Given the description of an element on the screen output the (x, y) to click on. 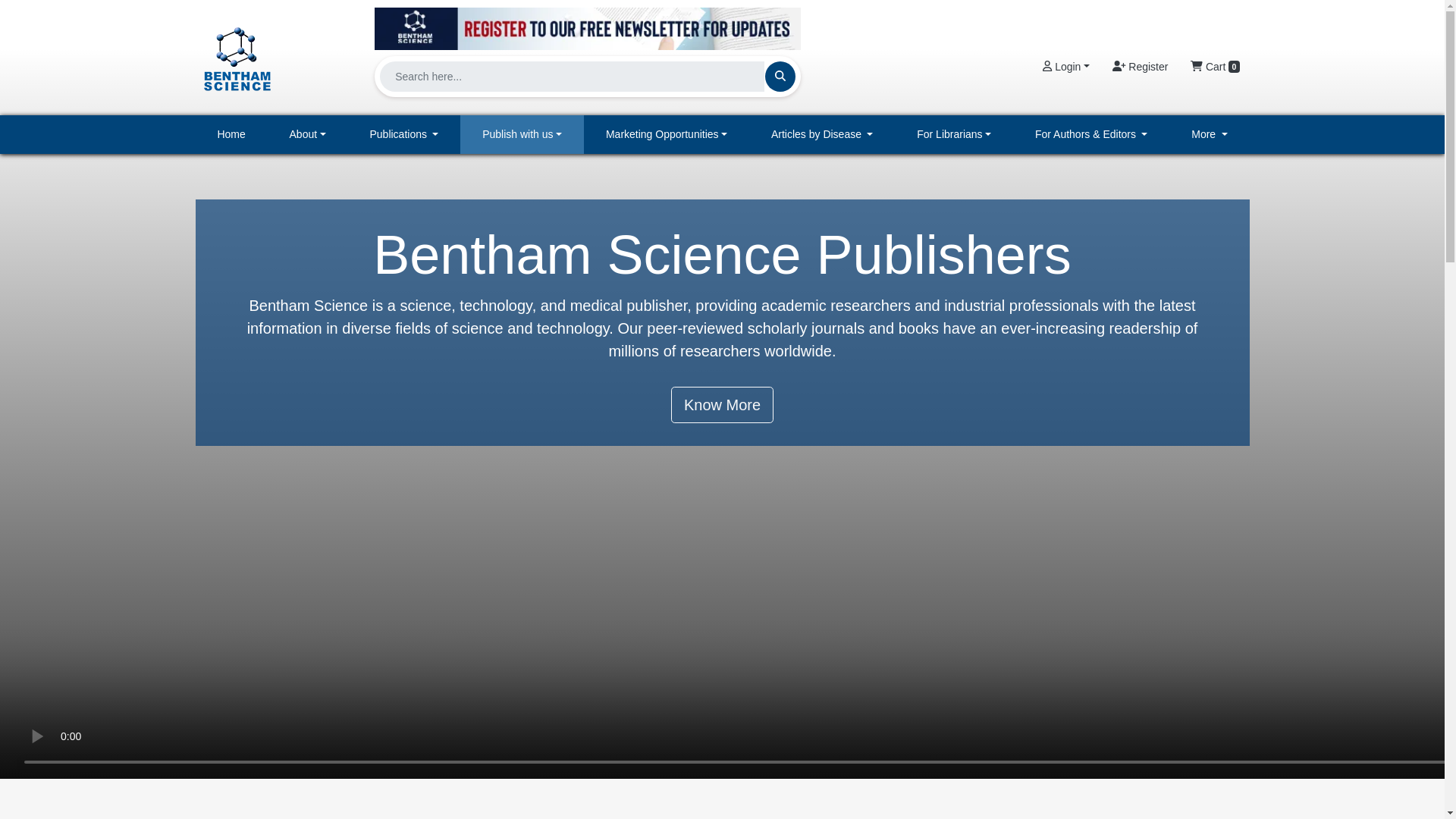
About (307, 134)
Publications (404, 134)
newsletter banner (587, 24)
Home (231, 134)
Search Button (779, 76)
Register (1139, 67)
newsletter banner (587, 28)
Login (1065, 67)
Cart 0 (1214, 67)
